Given the description of an element on the screen output the (x, y) to click on. 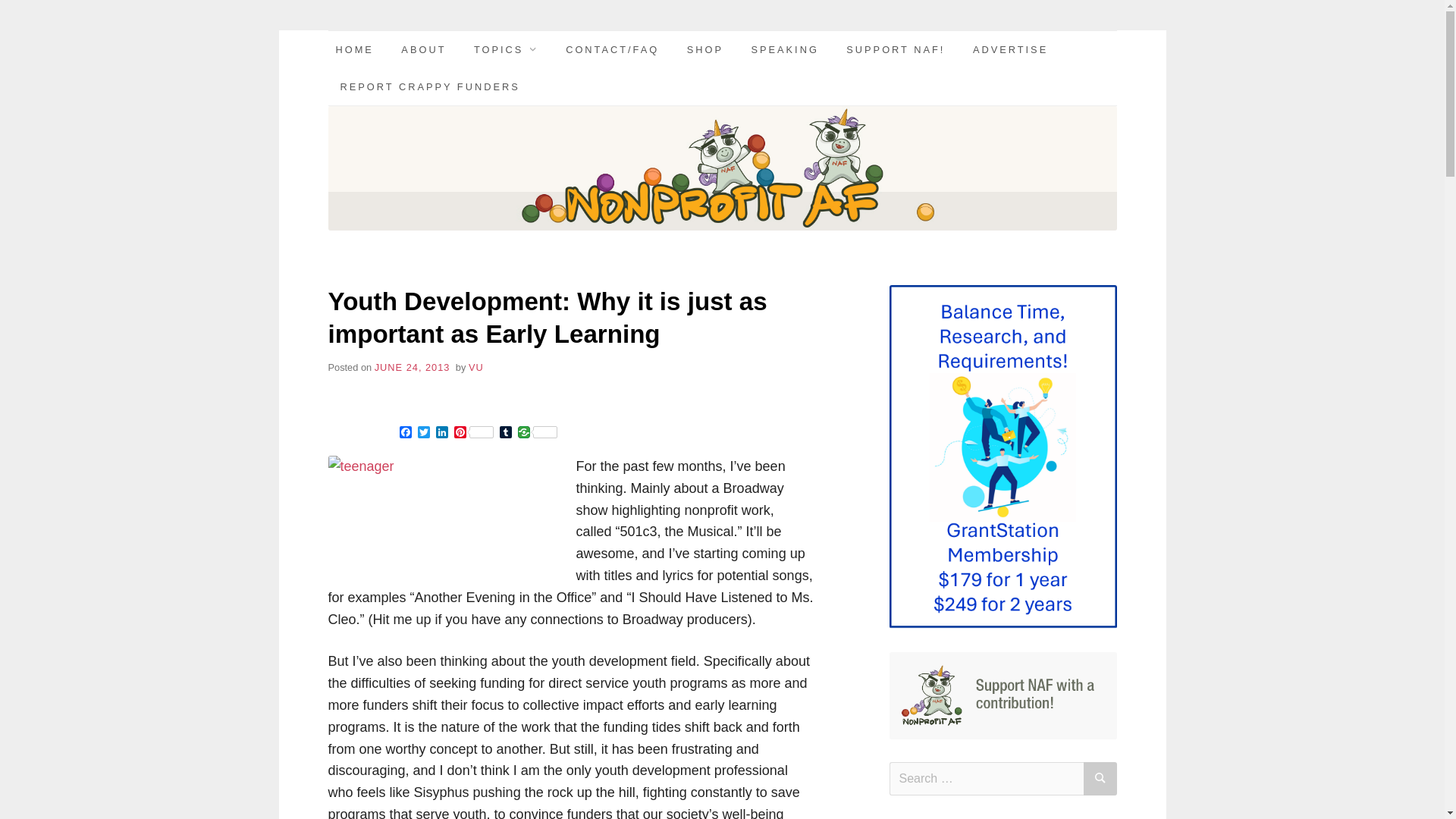
VU (475, 367)
Tumblr (504, 432)
Tumblr (504, 432)
Twitter (422, 432)
HOME (353, 49)
TOPICS (505, 49)
JUNE 24, 2013 (411, 367)
LinkedIn (440, 432)
Facebook (404, 432)
Twitter (422, 432)
